Given the description of an element on the screen output the (x, y) to click on. 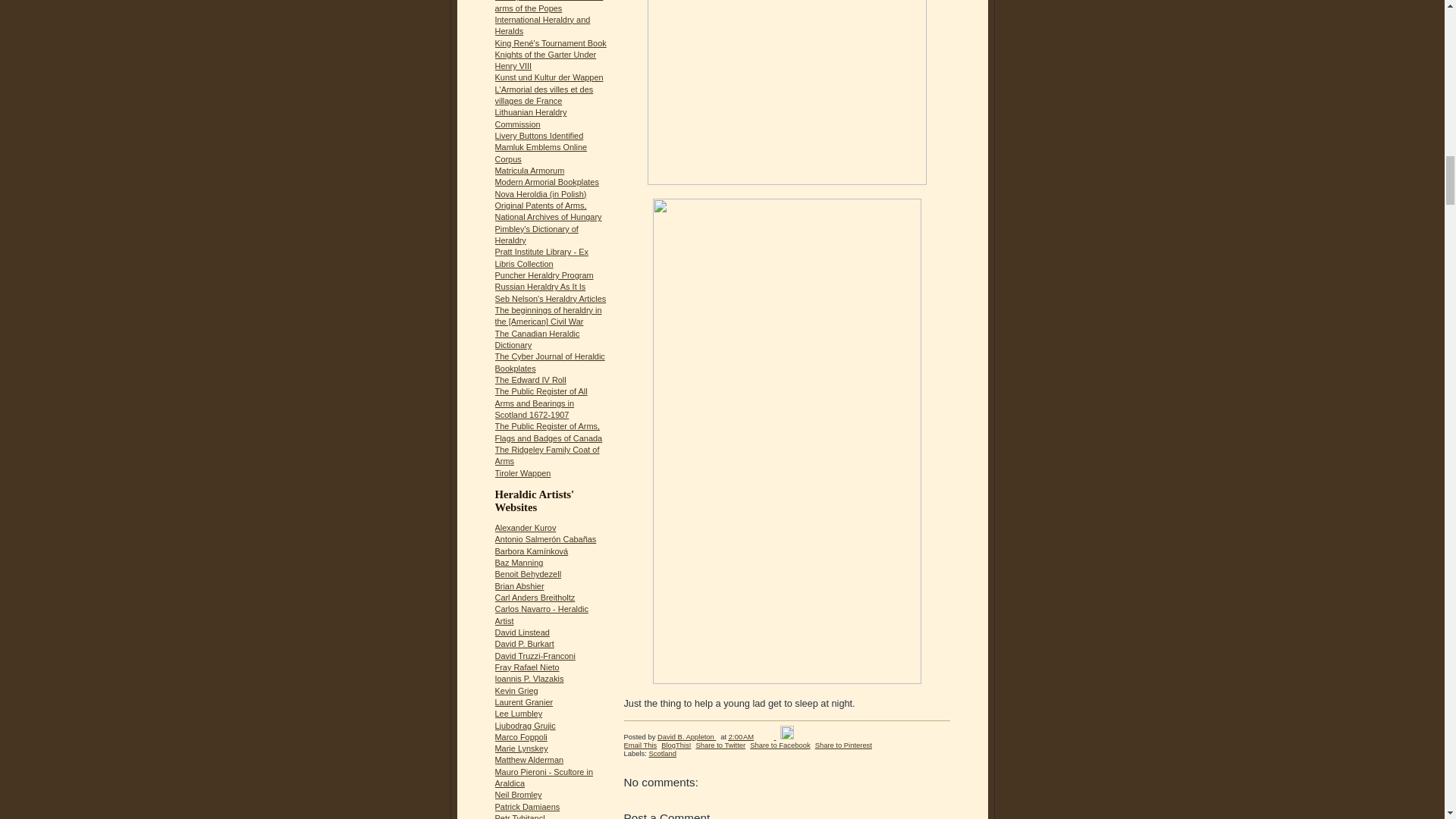
Share to Pinterest (843, 745)
Edit Post (786, 736)
Share to Facebook (779, 745)
Share to Twitter (720, 745)
author profile (687, 736)
BlogThis! (675, 745)
Email This (639, 745)
permanent link (741, 736)
Email Post (768, 736)
